Given the description of an element on the screen output the (x, y) to click on. 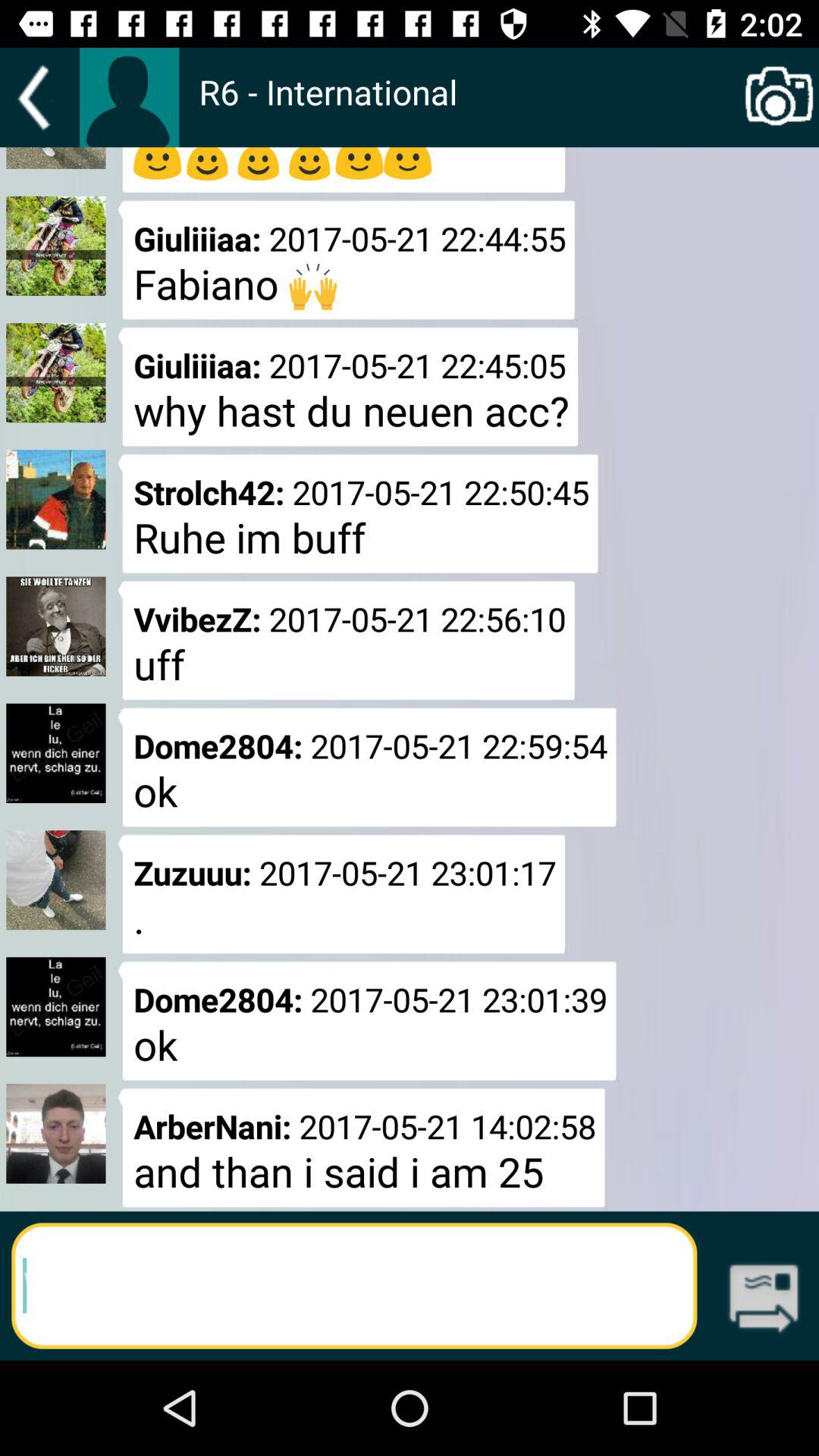
because back devicer (129, 97)
